Given the description of an element on the screen output the (x, y) to click on. 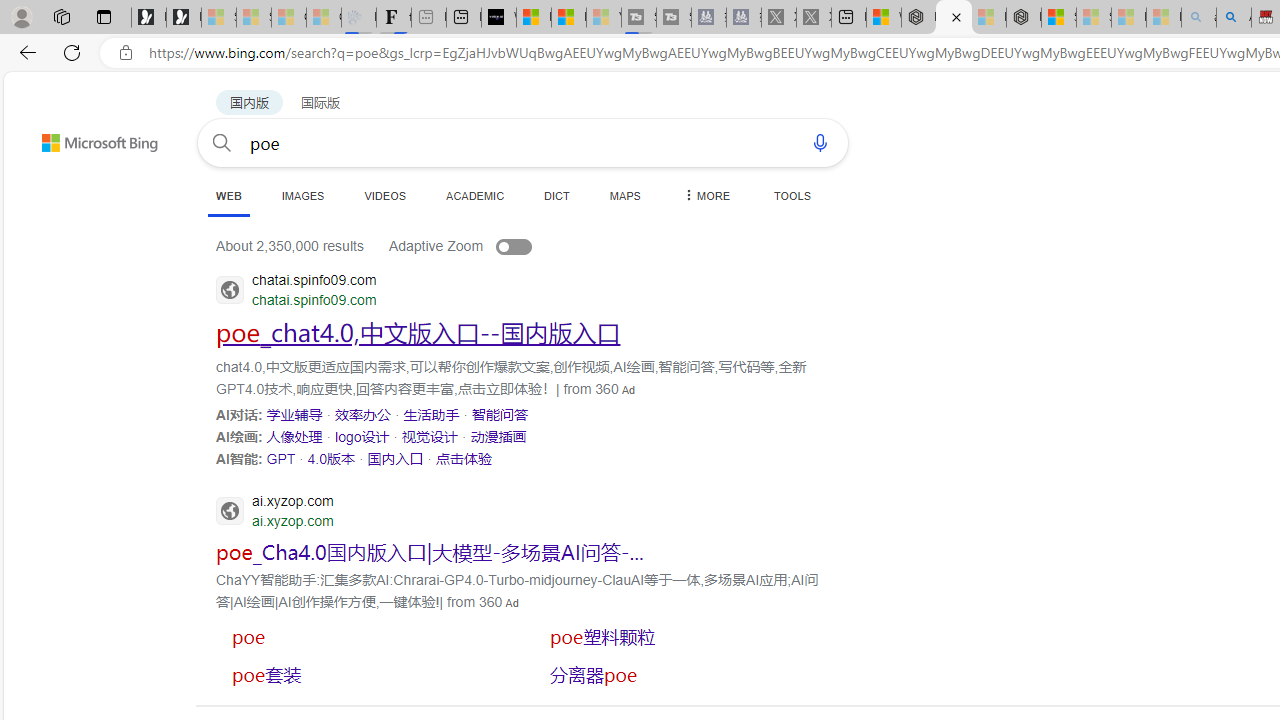
VIDEOS (384, 195)
Close tab (956, 16)
MORE (705, 195)
Nordace - Summer Adventures 2024 (918, 17)
New tab - Sleeping (428, 17)
What's the best AI voice generator? - voice.ai (498, 17)
Streaming Coverage | T3 - Sleeping (639, 17)
Personal Profile (21, 16)
Refresh (72, 52)
WEB (228, 196)
